Given the description of an element on the screen output the (x, y) to click on. 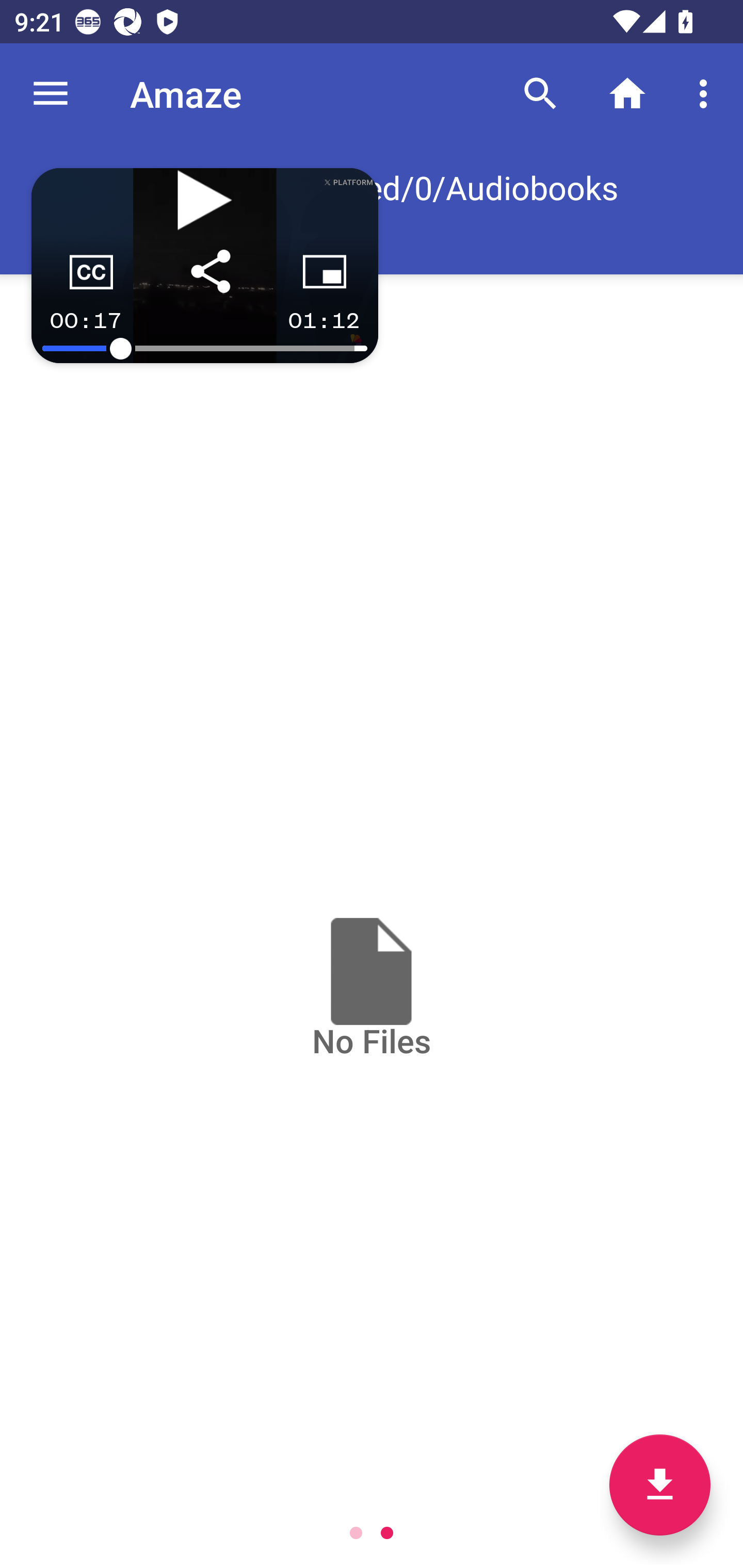
Navigate up (50, 93)
Search (540, 93)
Home (626, 93)
More options (706, 93)
